Given the description of an element on the screen output the (x, y) to click on. 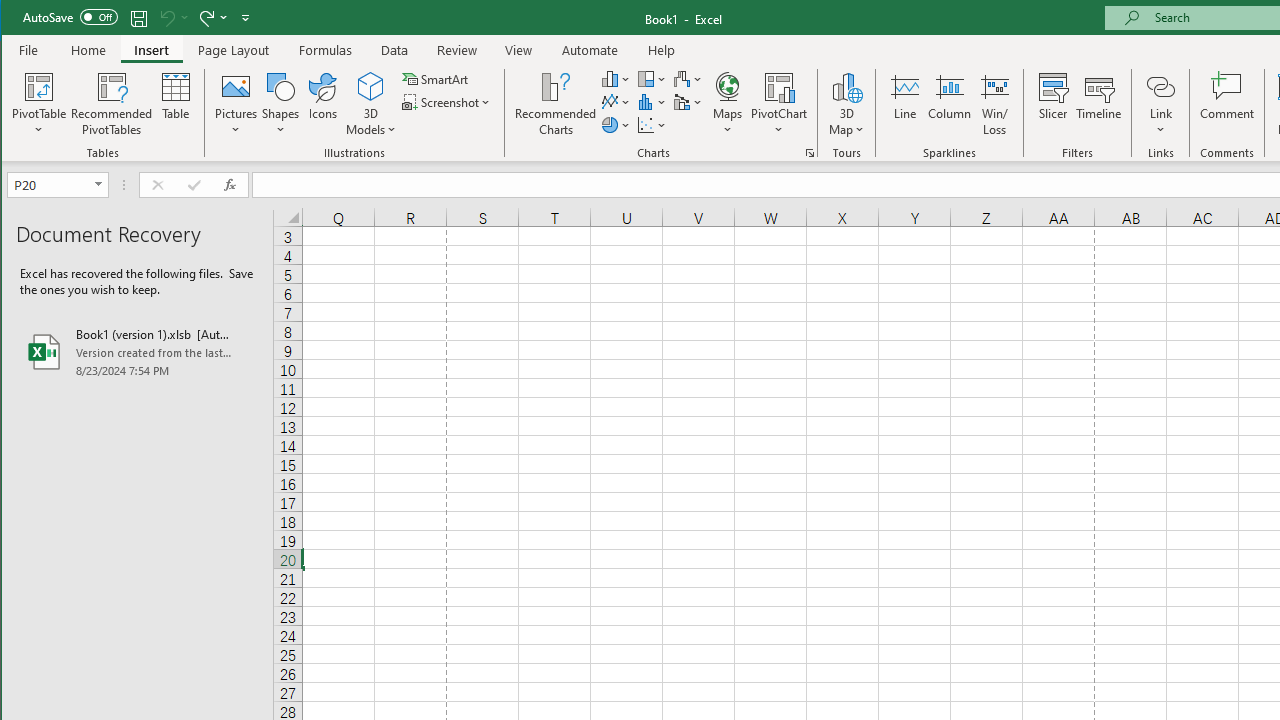
Insert Scatter (X, Y) or Bubble Chart (652, 124)
Slicer... (1052, 104)
Table (175, 104)
Shapes (280, 104)
Insert Line or Area Chart (616, 101)
3D Map (846, 86)
Win/Loss (995, 104)
Insert Statistic Chart (652, 101)
PivotTable (39, 86)
